Given the description of an element on the screen output the (x, y) to click on. 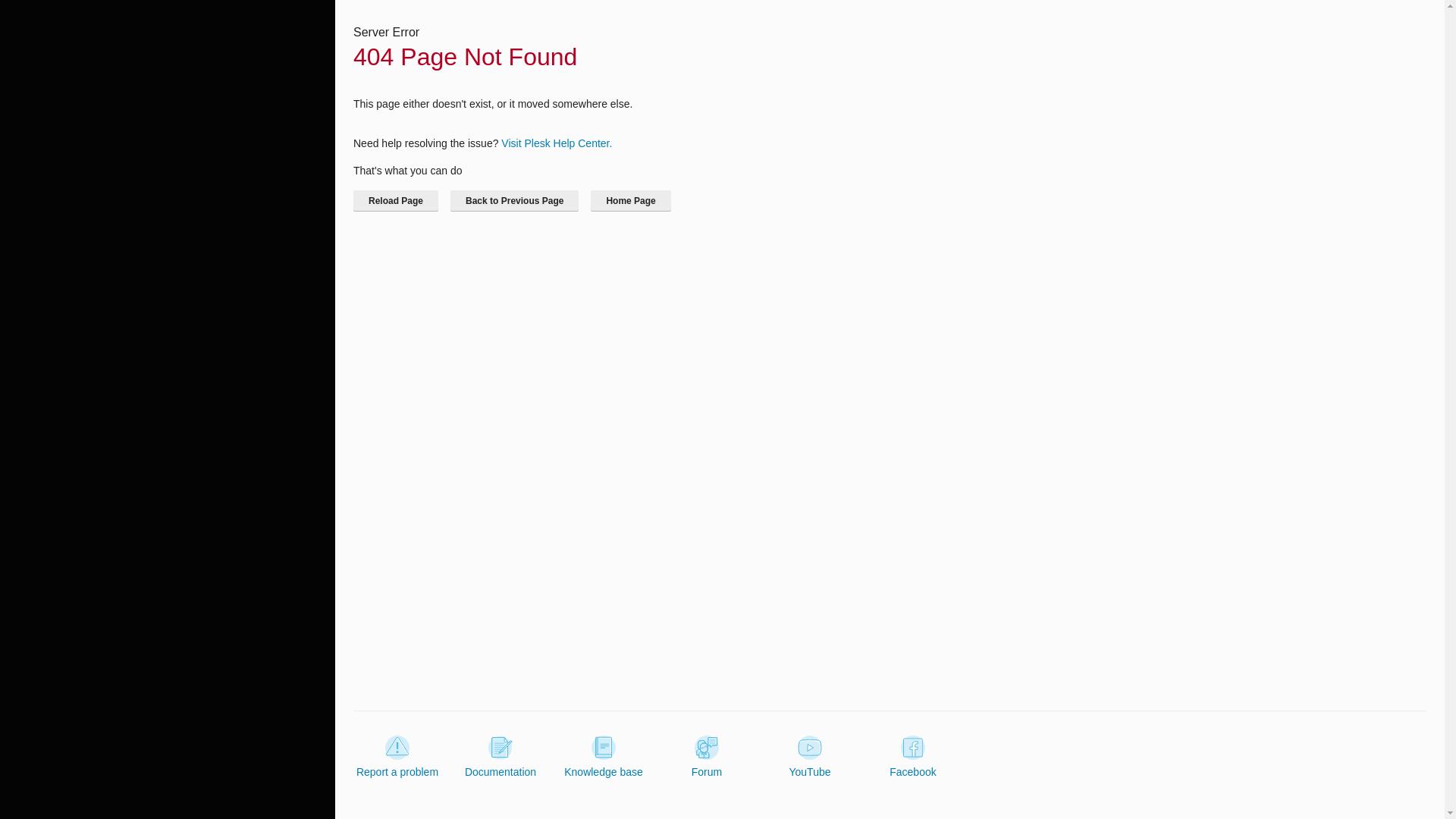
Visit Plesk Help Center. (555, 143)
Knowledge base (603, 757)
YouTube (809, 757)
Report a problem (397, 757)
Documentation (500, 757)
Back to Previous Page (513, 200)
Forum (706, 757)
Home Page (630, 200)
Facebook (912, 757)
Reload Page (395, 200)
